Given the description of an element on the screen output the (x, y) to click on. 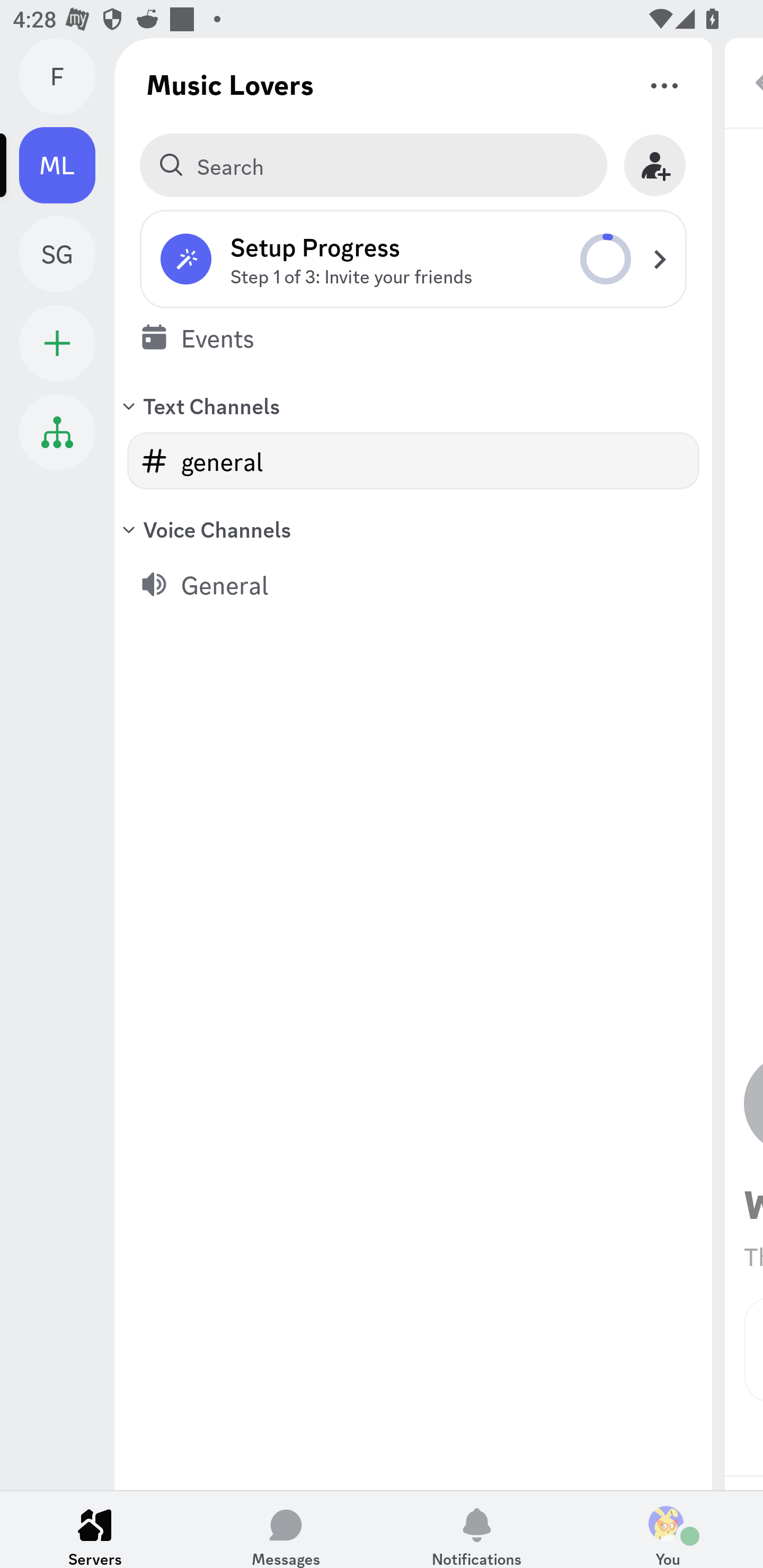
  Friends F (66, 75)
Music Lovers (230, 83)
  Music Lovers ML (66, 165)
Search (373, 165)
Invite (654, 165)
  Study Group SG (66, 253)
Add a Server (57, 343)
Events (413, 336)
Text Channels (412, 404)
Student Hub (57, 431)
general (text channel) general (413, 460)
Voice Channels (412, 528)
General (voice channel), 0 users General (413, 584)
Servers (95, 1529)
Messages (285, 1529)
Notifications (476, 1529)
You (667, 1529)
